Given the description of an element on the screen output the (x, y) to click on. 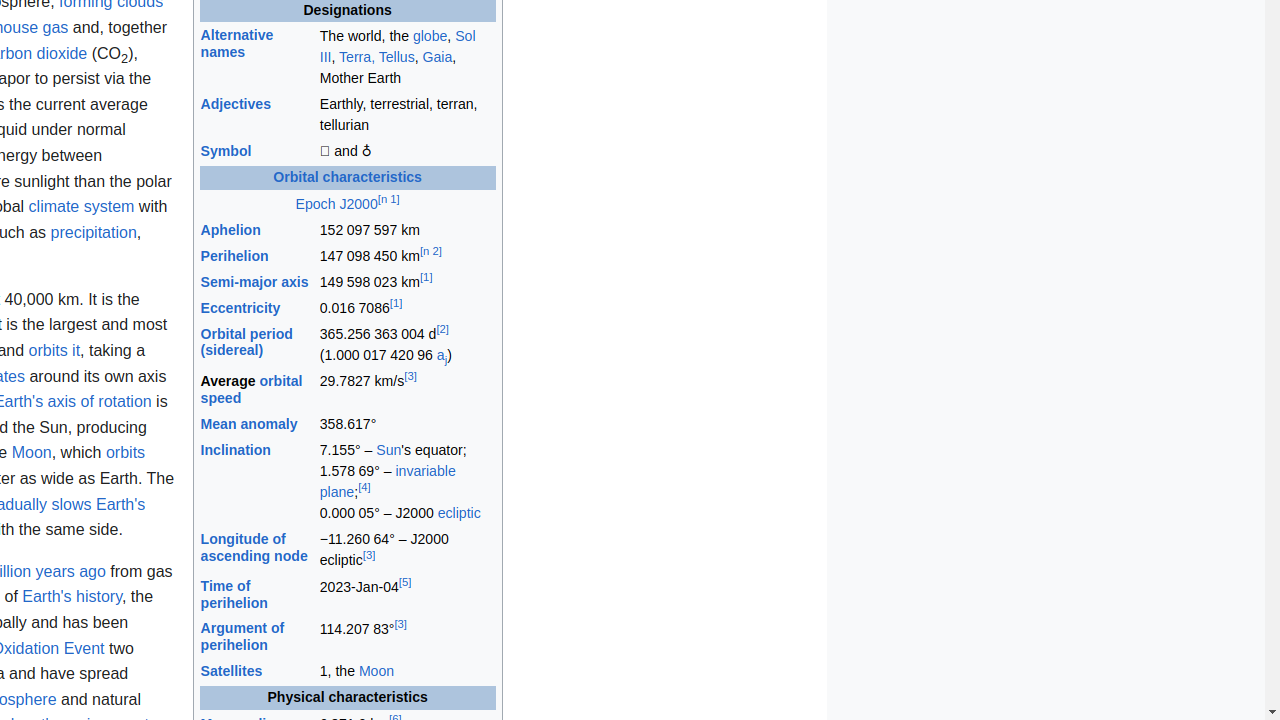
Aphelion Element type: link (230, 229)
Symbol Element type: link (226, 151)
a Element type: link (440, 355)
[2] Element type: link (442, 329)
152097597 km Element type: table-cell (407, 229)
